Given the description of an element on the screen output the (x, y) to click on. 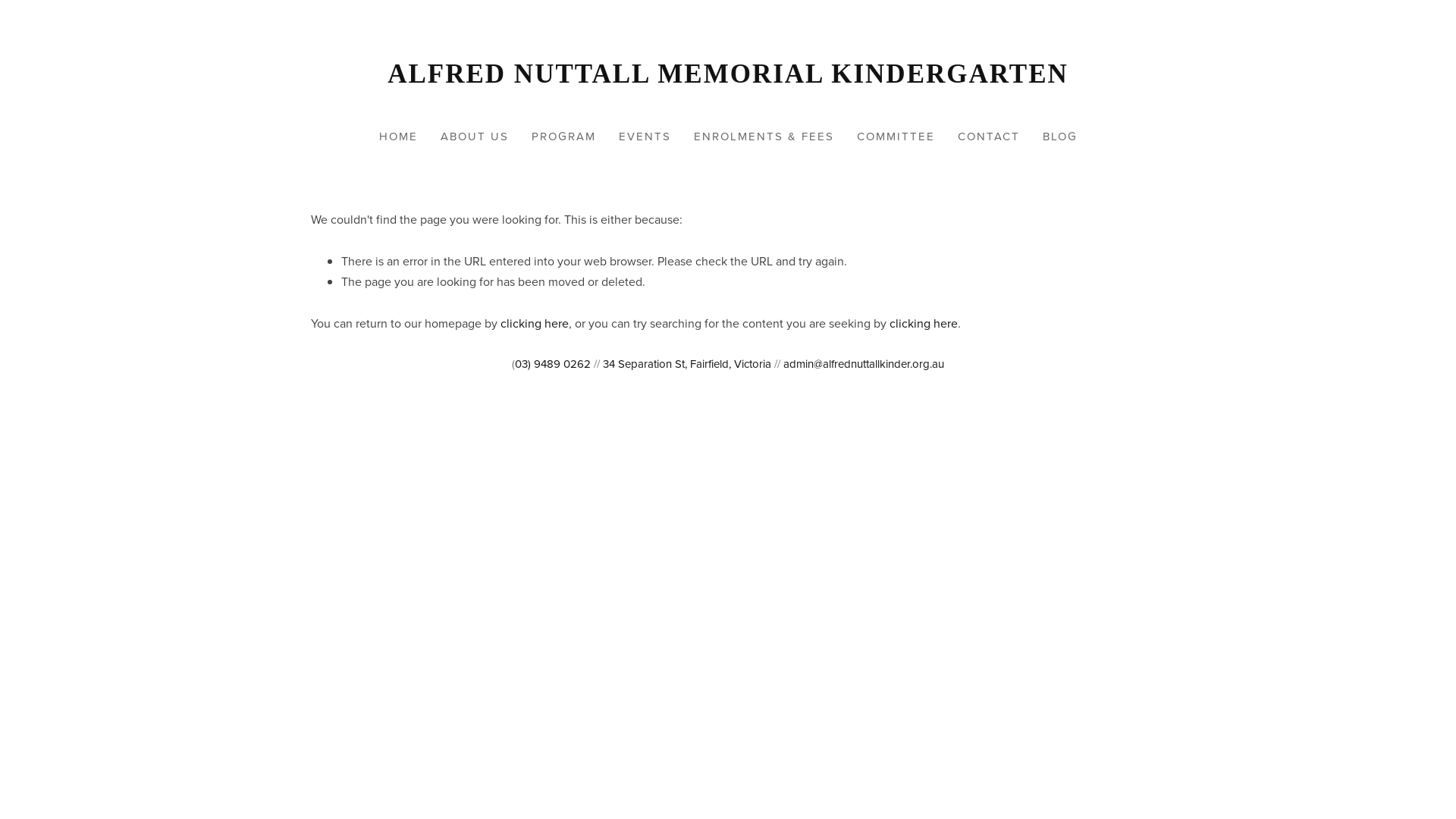
EVENTS Element type: text (644, 136)
COMMITTEE Element type: text (895, 136)
ABOUT US Element type: text (473, 136)
clicking here Element type: text (923, 323)
34 Separation St, Fairfield, Victoria Element type: text (686, 363)
HOME Element type: text (398, 136)
admin@alfrednuttallkinder.org.au Element type: text (863, 363)
BLOG Element type: text (1058, 136)
ALFRED NUTTALL MEMORIAL KINDERGARTEN Element type: text (727, 73)
clicking here Element type: text (534, 323)
PROGRAM Element type: text (562, 136)
ENROLMENTS & FEES Element type: text (763, 136)
CONTACT Element type: text (987, 136)
03) 9489 0262 Element type: text (552, 363)
